Given the description of an element on the screen output the (x, y) to click on. 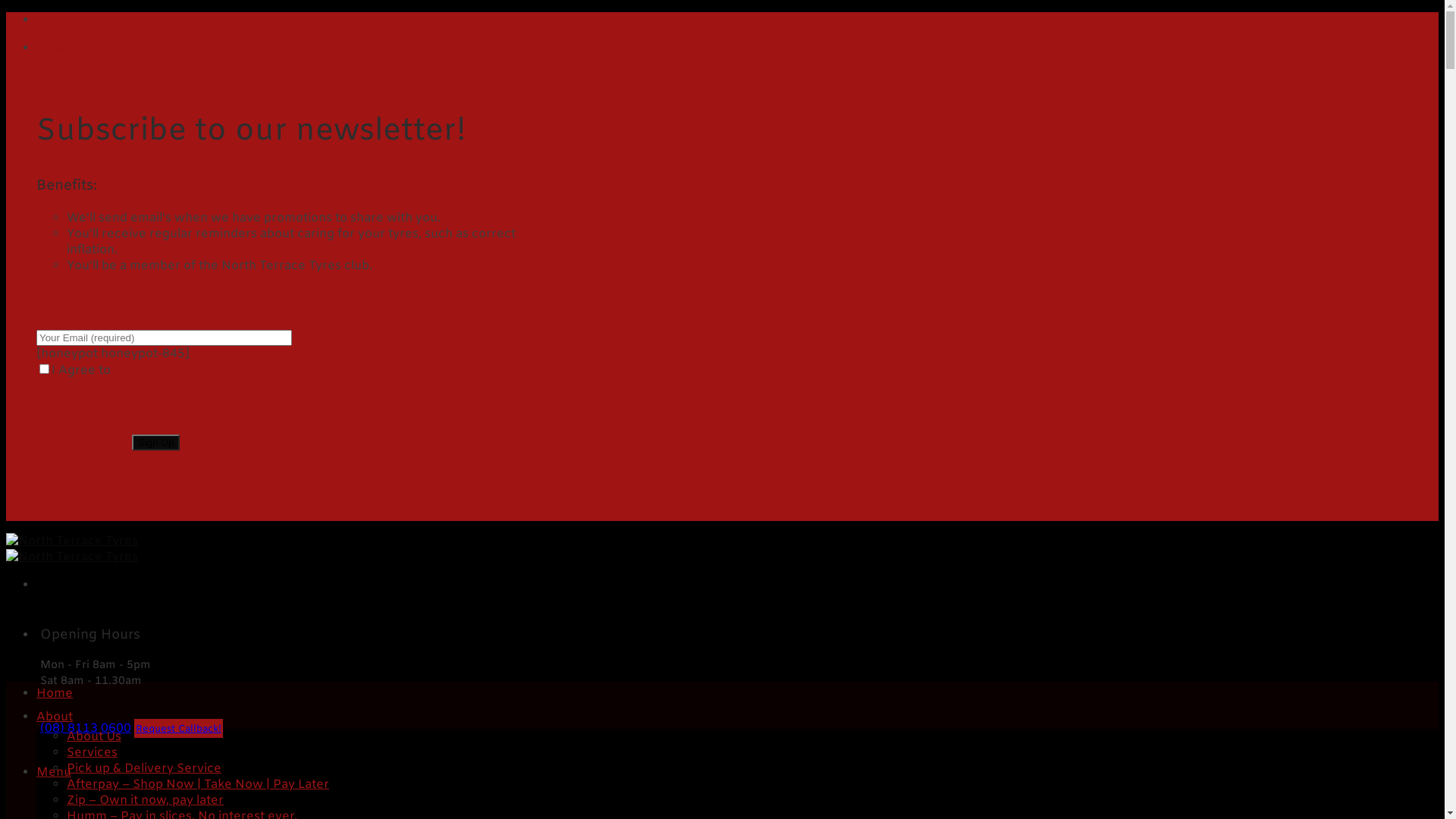
North Terrace Tyres - Where tyres go to be sold! Element type: hover (72, 548)
Request Callback! Element type: text (178, 727)
Newsletter Element type: text (69, 48)
Menu Element type: text (53, 772)
About Element type: text (54, 716)
Home Element type: text (54, 693)
Sign Up Element type: text (155, 442)
About Us Element type: text (93, 736)
Pick up & Delivery Service Element type: text (143, 768)
T&C's Element type: text (133, 370)
(08) 8113 0600 Element type: text (85, 728)
Skip to content Element type: text (5, 11)
Services Element type: text (91, 752)
